Given the description of an element on the screen output the (x, y) to click on. 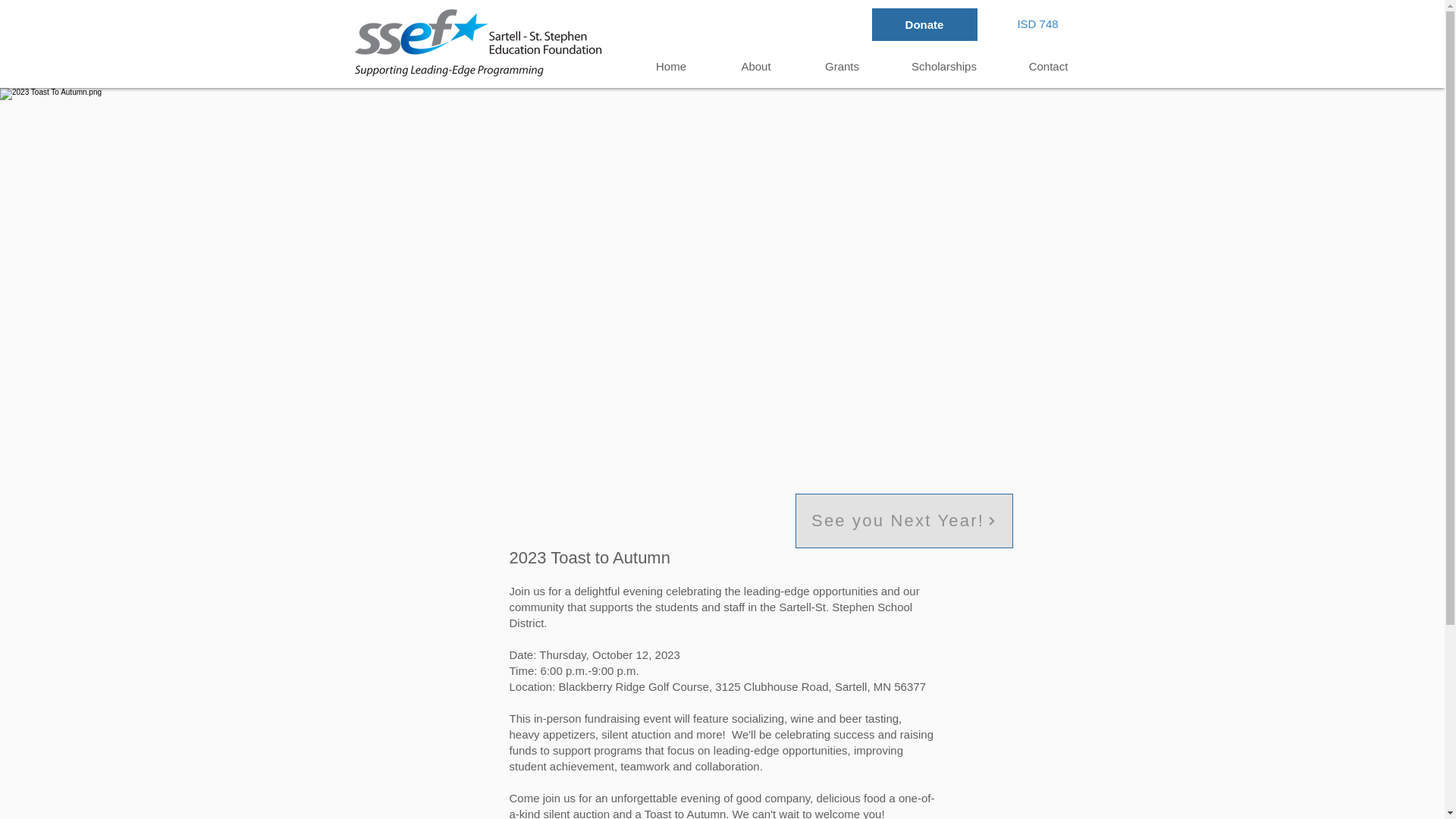
ISD 748 (1037, 23)
Home (670, 65)
Contact (1048, 65)
Donate (924, 24)
See you Next Year! (902, 520)
